Given the description of an element on the screen output the (x, y) to click on. 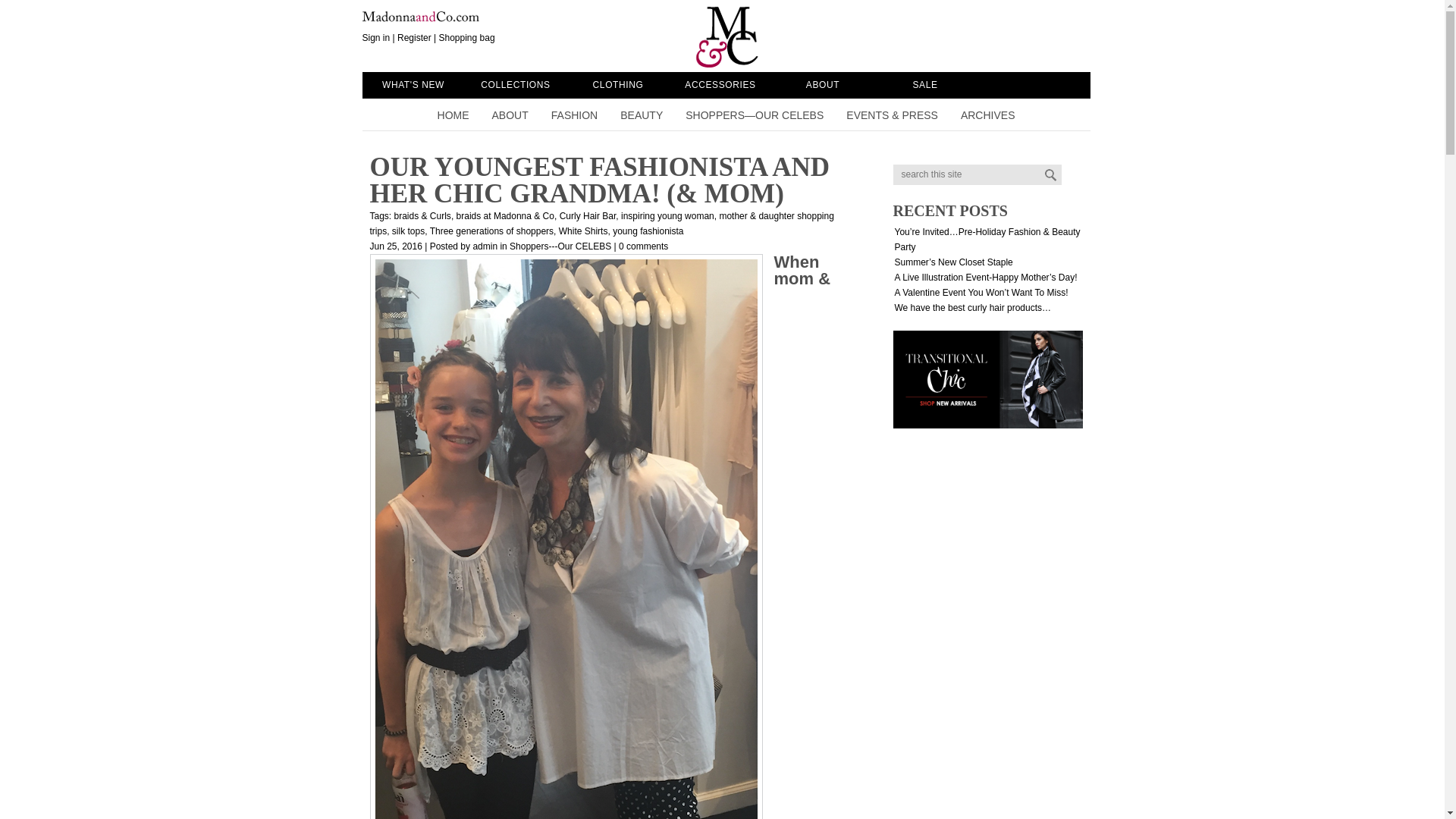
ACCESSORIES (719, 85)
follow us on facebook (999, 21)
Curly Hair Bar (587, 215)
ARCHIVES (987, 116)
WHAT'S NEW (413, 85)
BEAUTY (641, 116)
young fashionista (647, 231)
ABOUT (823, 85)
Three generations of shoppers (491, 231)
SALE (924, 85)
Posts by admin (484, 245)
COLLECTIONS (515, 85)
follow us on pinterest (1031, 21)
HOME (453, 116)
Shoppers---Our CELEBS (560, 245)
